Given the description of an element on the screen output the (x, y) to click on. 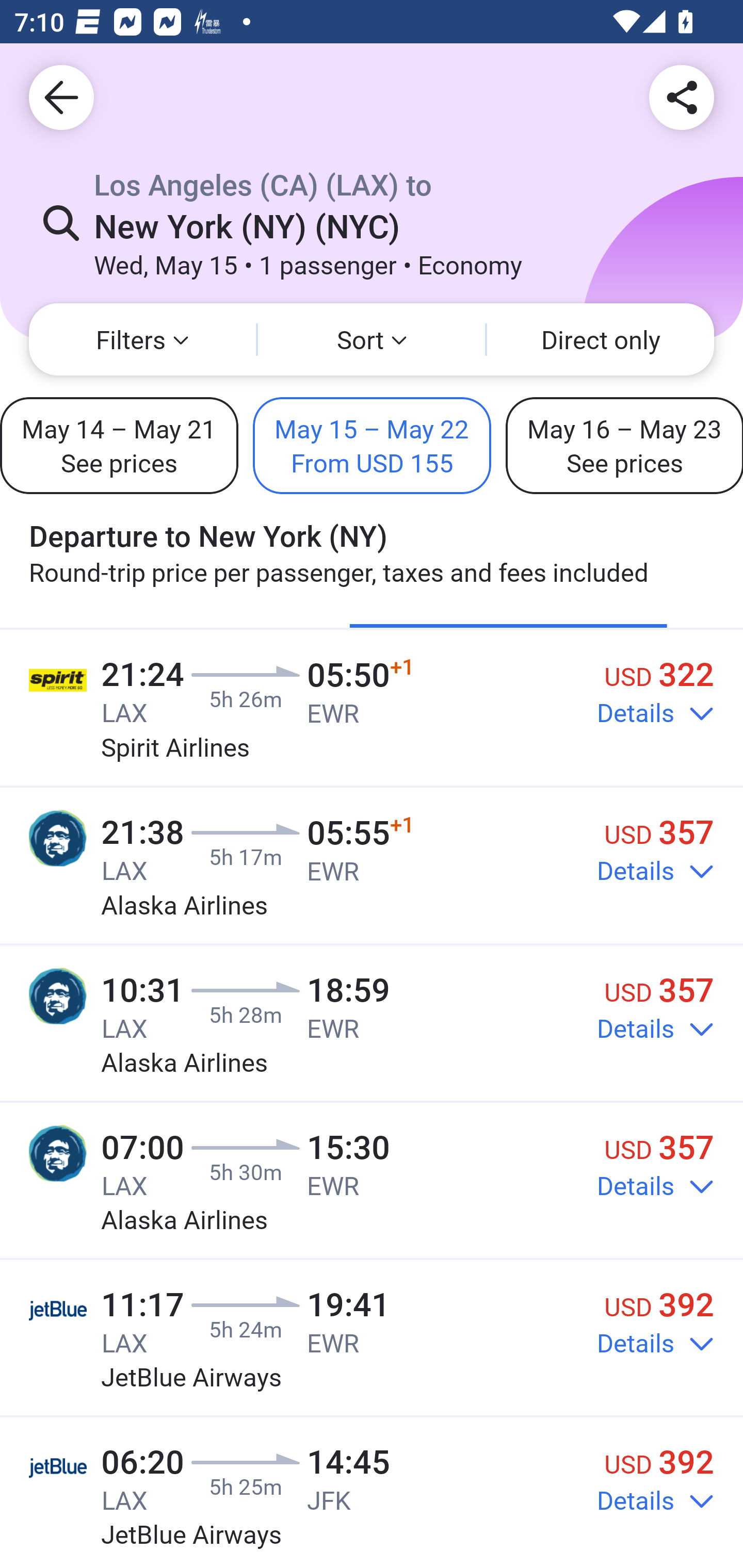
Filters (141, 339)
Sort (371, 339)
Direct only (600, 339)
May 14 – May 21 See prices (119, 444)
May 15 – May 22 From USD 155 (371, 444)
May 16 – May 23 See prices (624, 444)
